Given the description of an element on the screen output the (x, y) to click on. 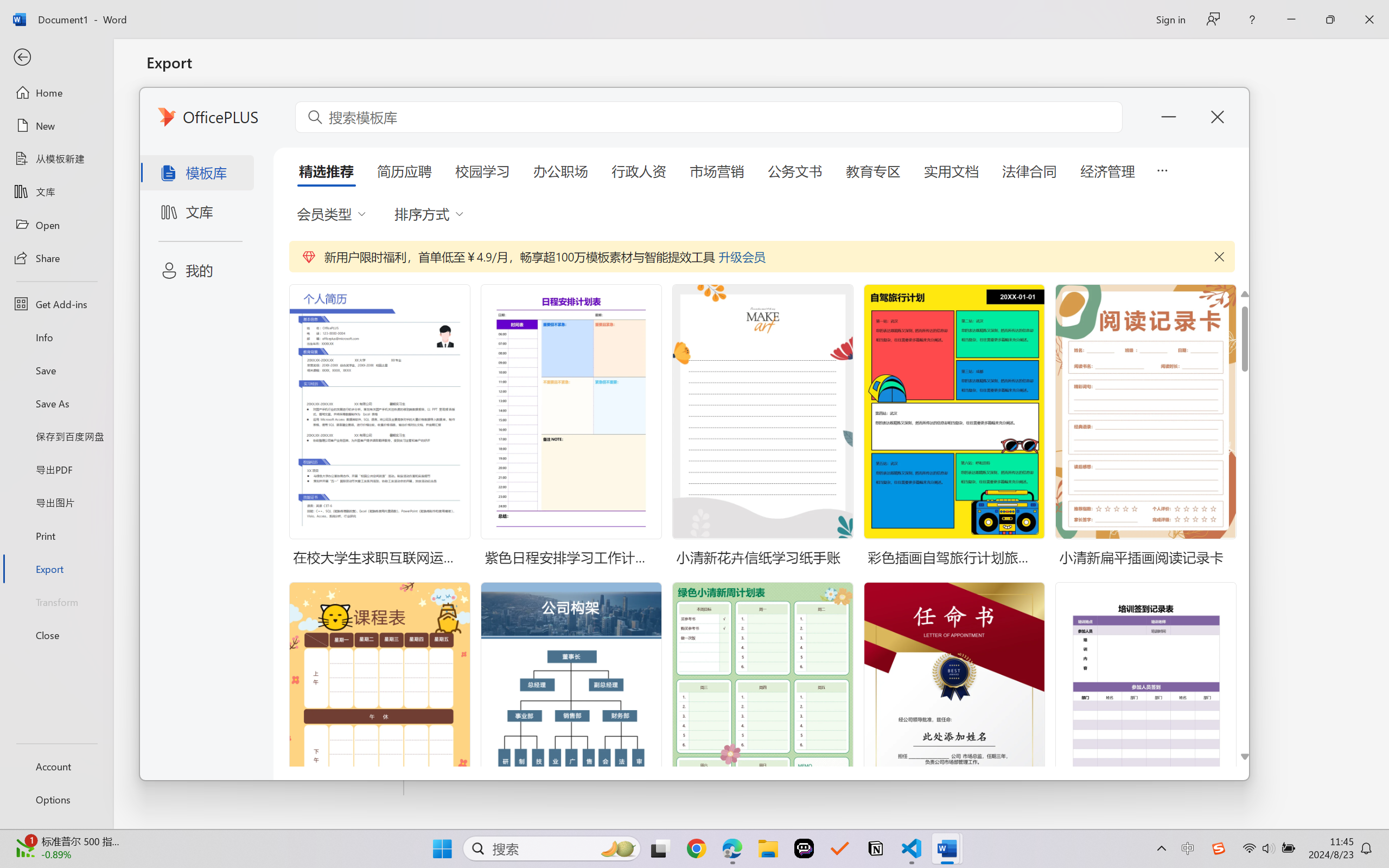
Go to the Product policy page (468, 533)
You (1357, 37)
Google News (56, 12)
Close (1257, 11)
YouTube (938, 12)
New Tab (1276, 12)
Back (10, 37)
System (6, 6)
Bookmark this tab (1329, 37)
Restore (1350, 12)
Go to the Accountability page (912, 533)
New Tab (1231, 12)
